Given the description of an element on the screen output the (x, y) to click on. 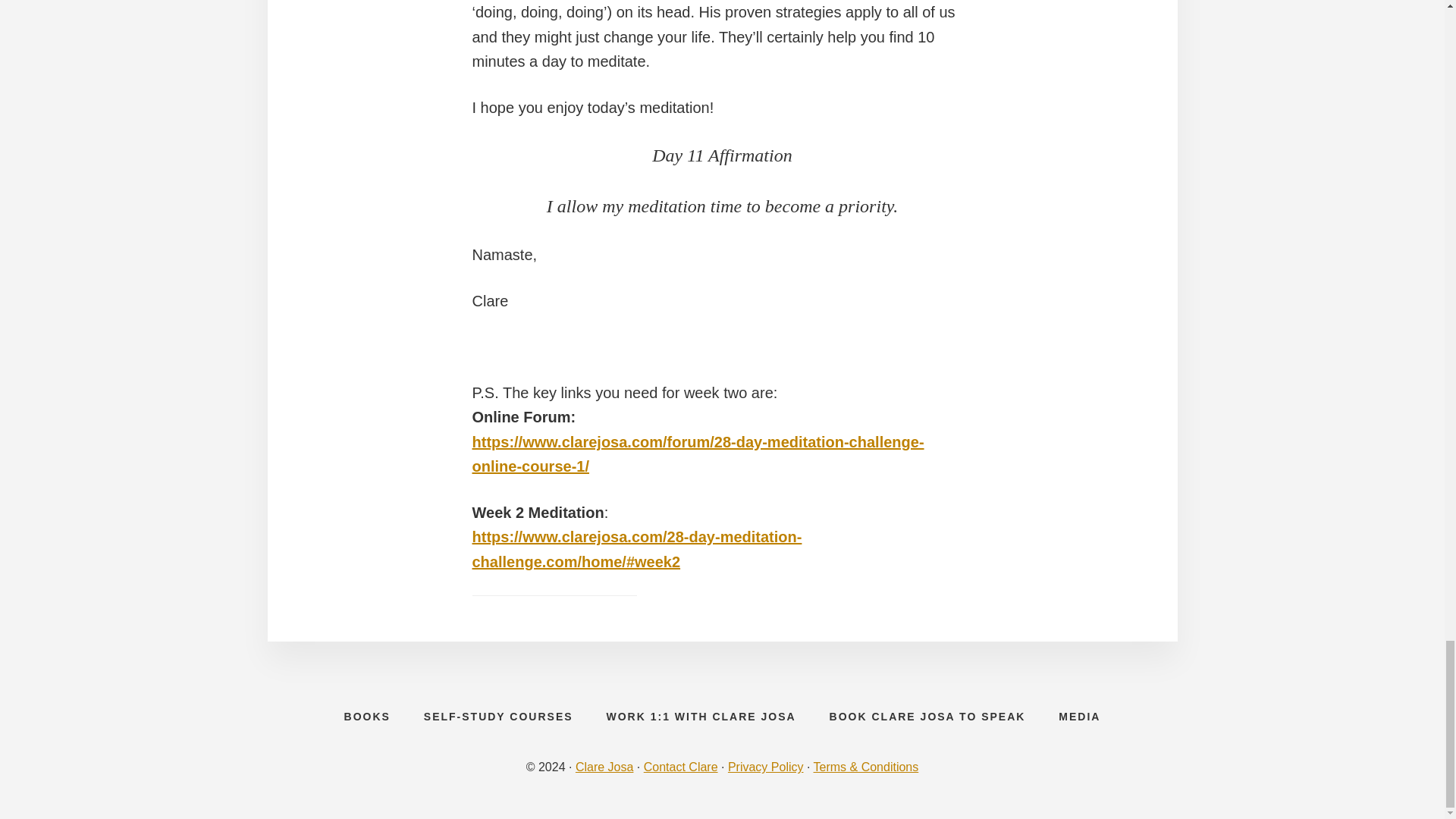
Contact Clare Josa (680, 766)
Privacy Policy (765, 766)
